Given the description of an element on the screen output the (x, y) to click on. 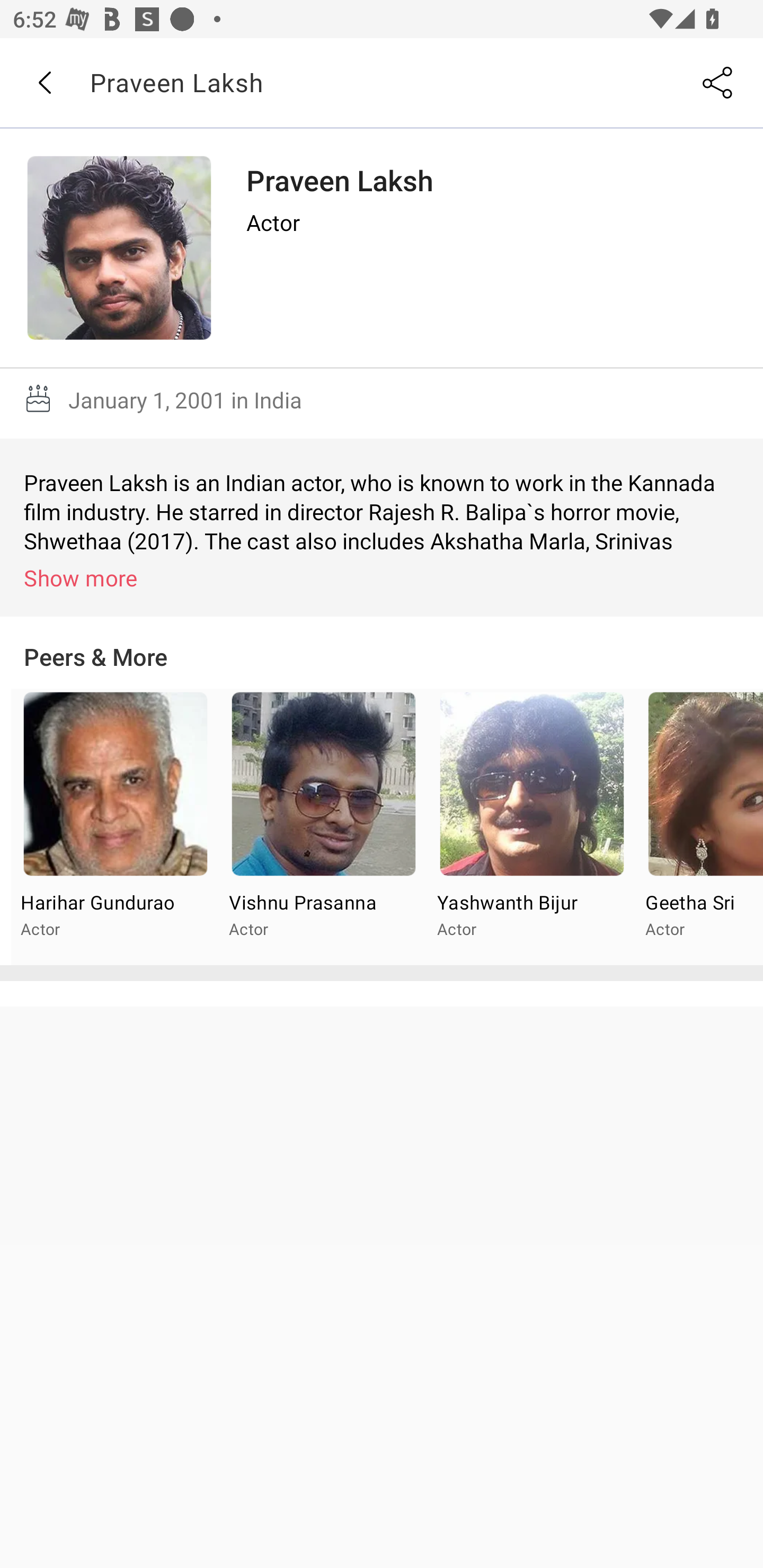
Back (44, 82)
Show more (384, 577)
Harihar Gundurao Dattatreya Actor (115, 826)
Vishnu Prasanna Actor (323, 826)
Yashwanth Bijur Actor (531, 826)
Geetha Sri Actor (699, 826)
